Given the description of an element on the screen output the (x, y) to click on. 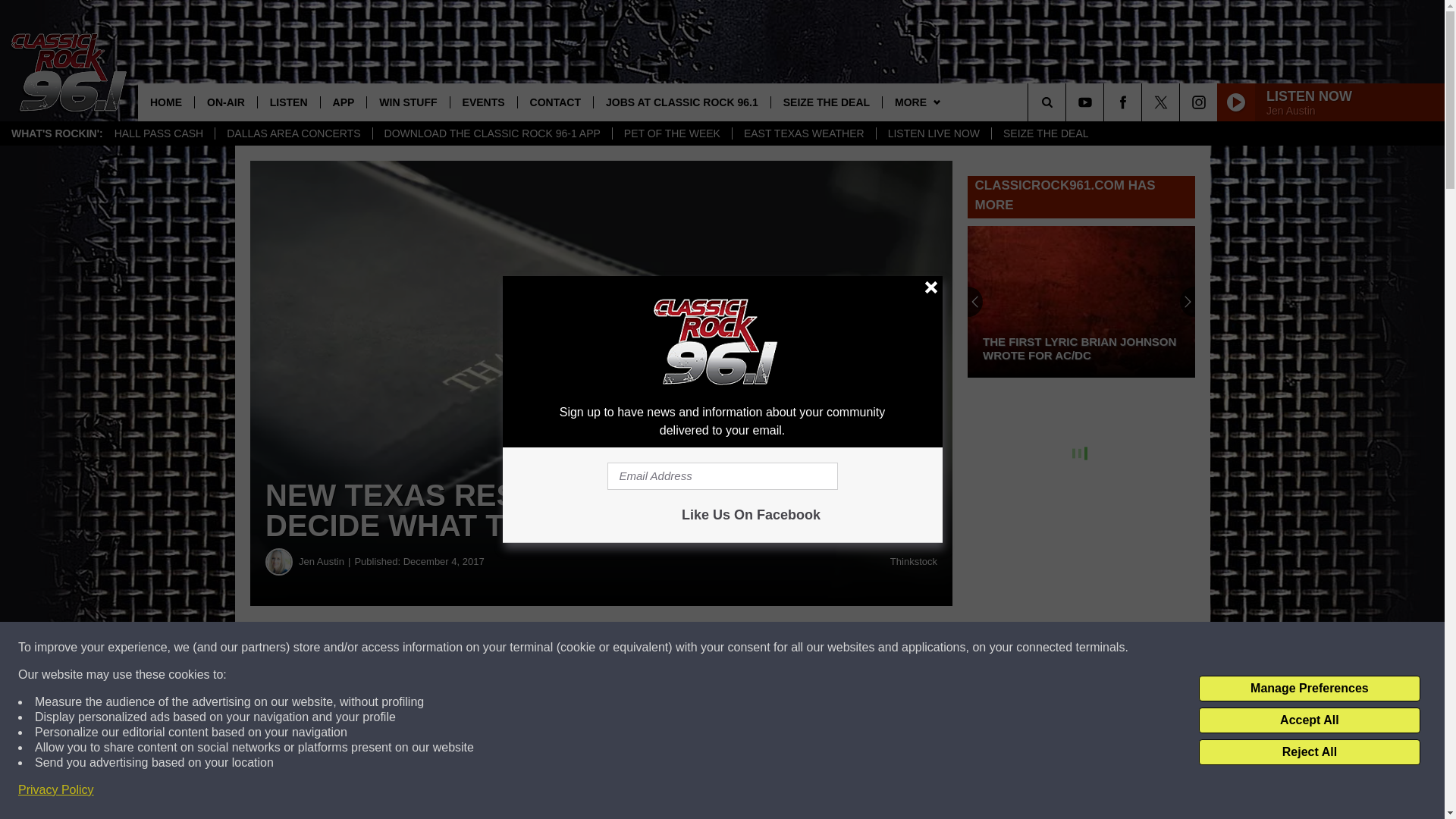
Accept All (1309, 720)
DALLAS AREA CONCERTS (292, 133)
APP (343, 102)
HOME (165, 102)
Email Address (722, 475)
Manage Preferences (1309, 688)
ON-AIR (225, 102)
Share on Twitter (741, 647)
EAST TEXAS WEATHER (804, 133)
SEARCH (1068, 102)
Reject All (1309, 751)
DOWNLOAD THE CLASSIC ROCK 96-1 APP (491, 133)
PET OF THE WEEK (671, 133)
WIN STUFF (407, 102)
SEARCH (1068, 102)
